Given the description of an element on the screen output the (x, y) to click on. 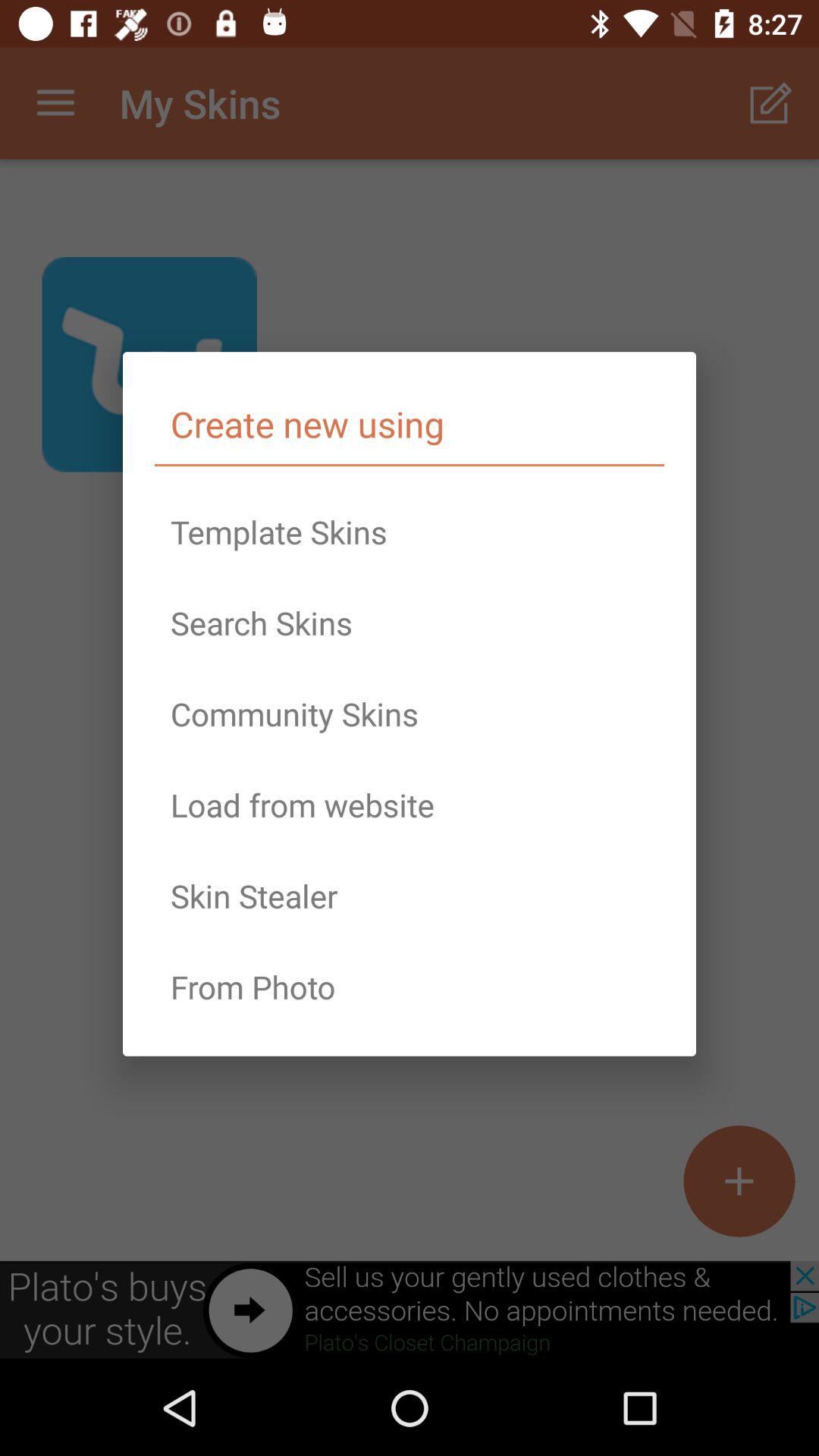
press the item above community skins (409, 622)
